Given the description of an element on the screen output the (x, y) to click on. 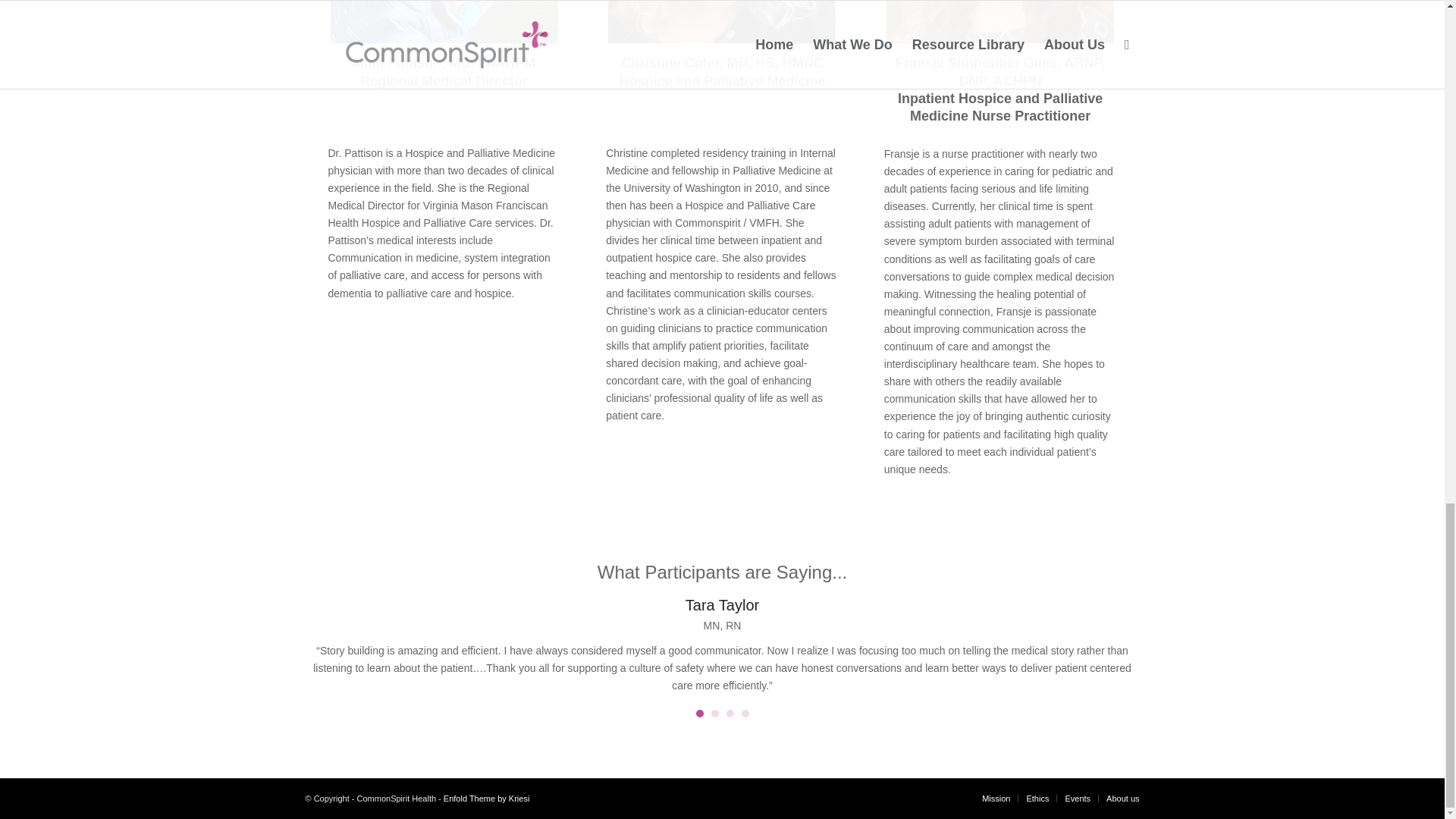
3 (443, 21)
2 (721, 21)
1 (999, 21)
4 (745, 713)
Events (1077, 798)
Mission (995, 798)
About us (1122, 798)
3 (729, 713)
Ethics (1037, 798)
1 (699, 713)
